Given the description of an element on the screen output the (x, y) to click on. 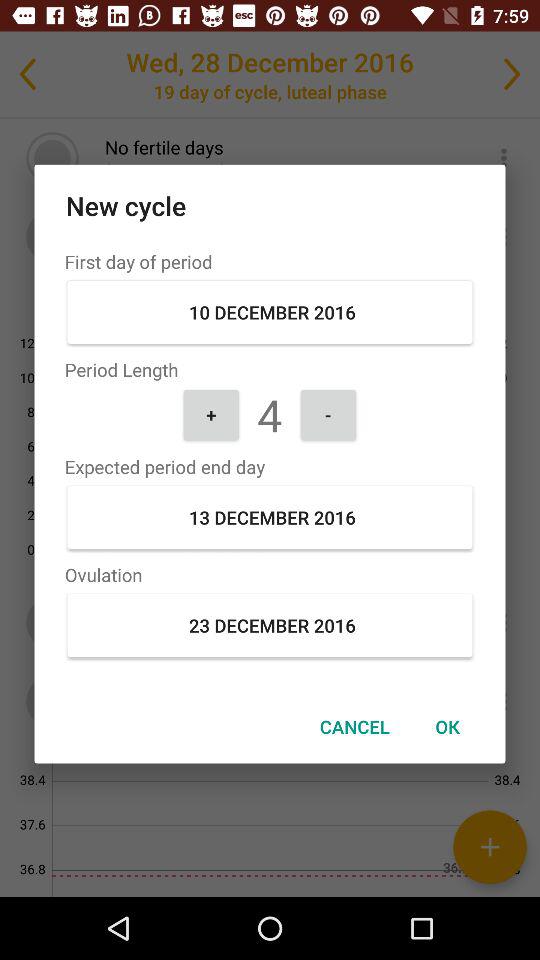
click the item below the period length icon (211, 414)
